Given the description of an element on the screen output the (x, y) to click on. 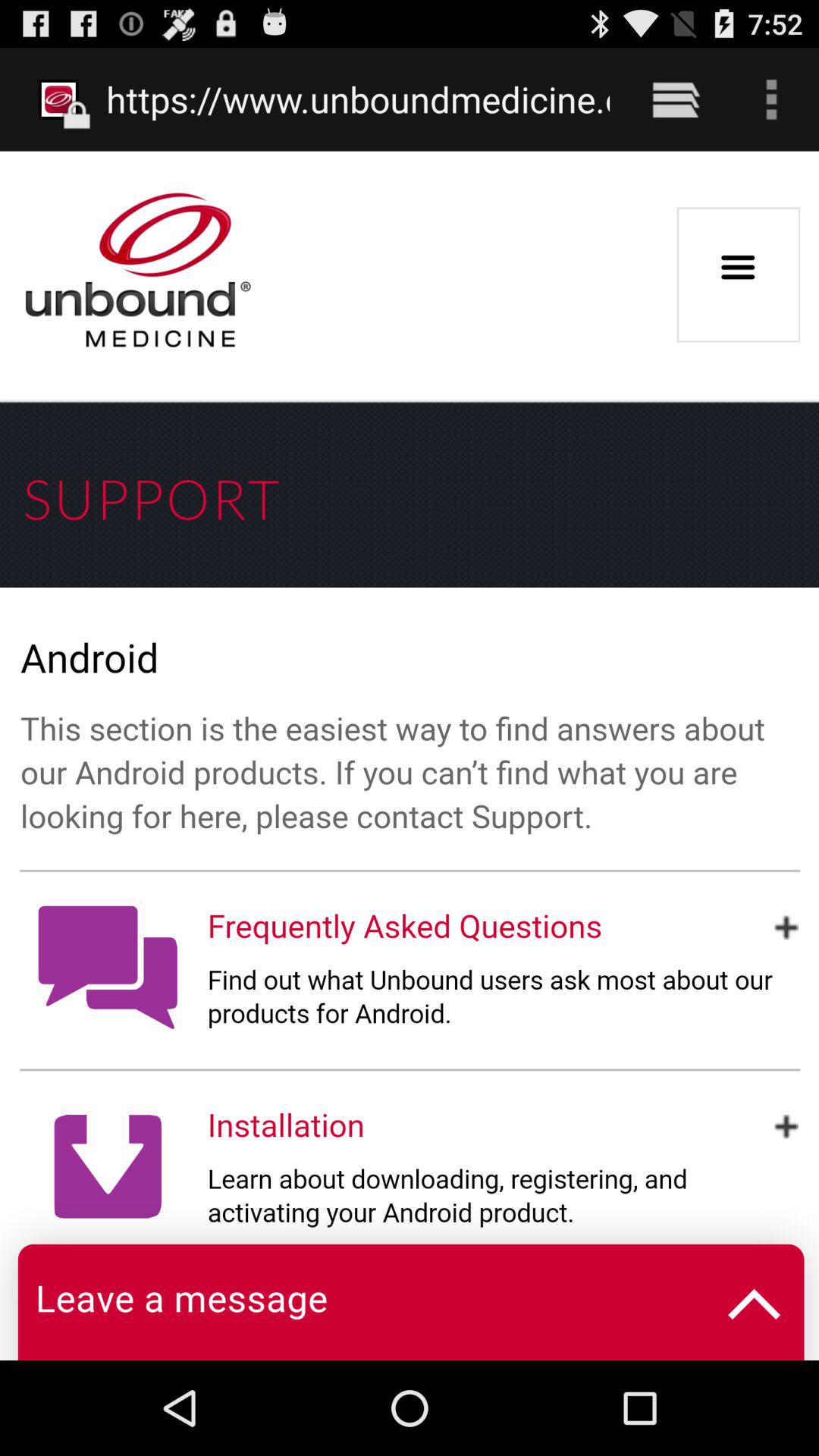
jump until https www unboundmedicine item (357, 99)
